Given the description of an element on the screen output the (x, y) to click on. 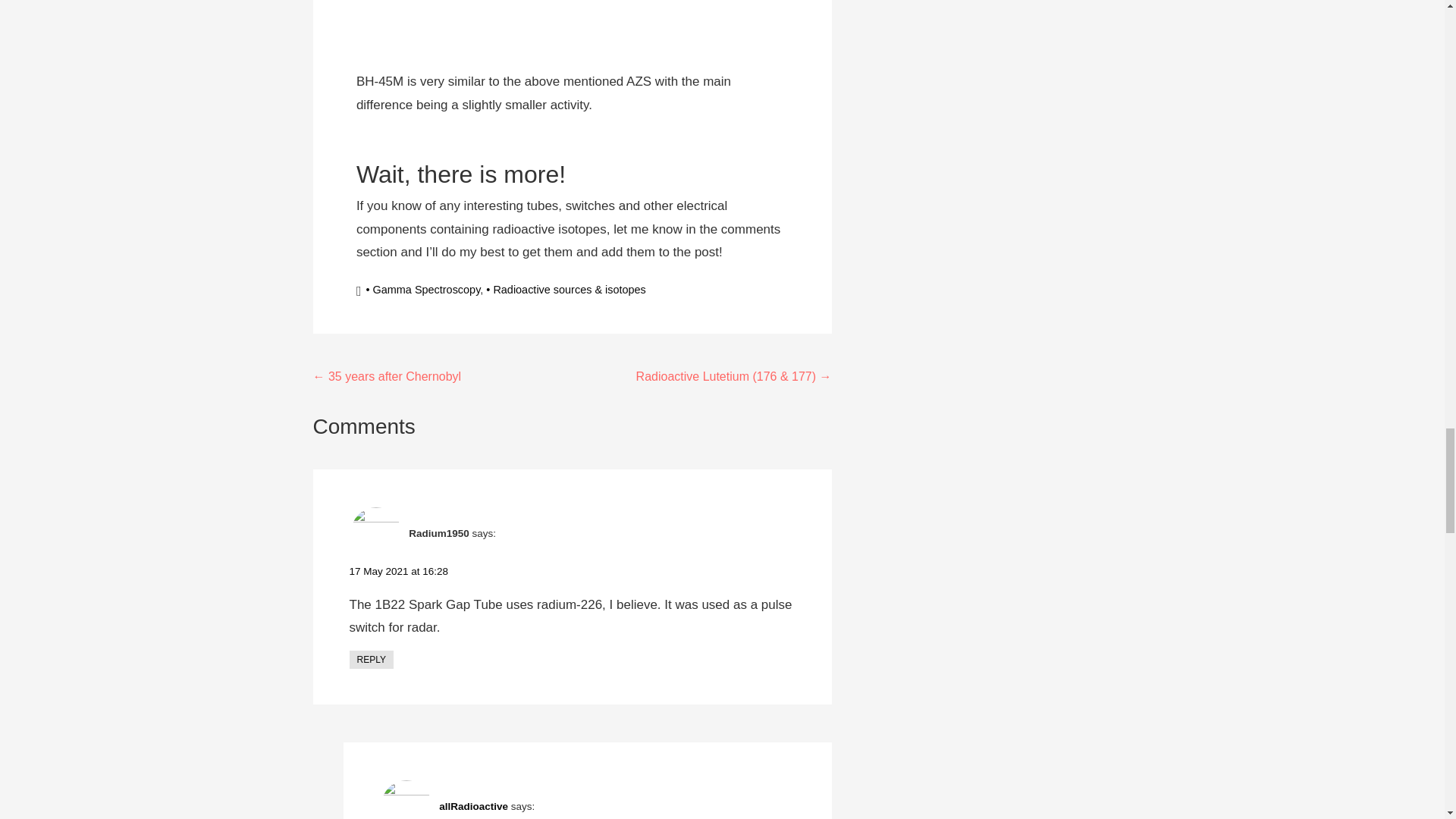
REPLY (371, 659)
17 May 2021 at 16:28 (398, 571)
allRadioactive (473, 806)
